Given the description of an element on the screen output the (x, y) to click on. 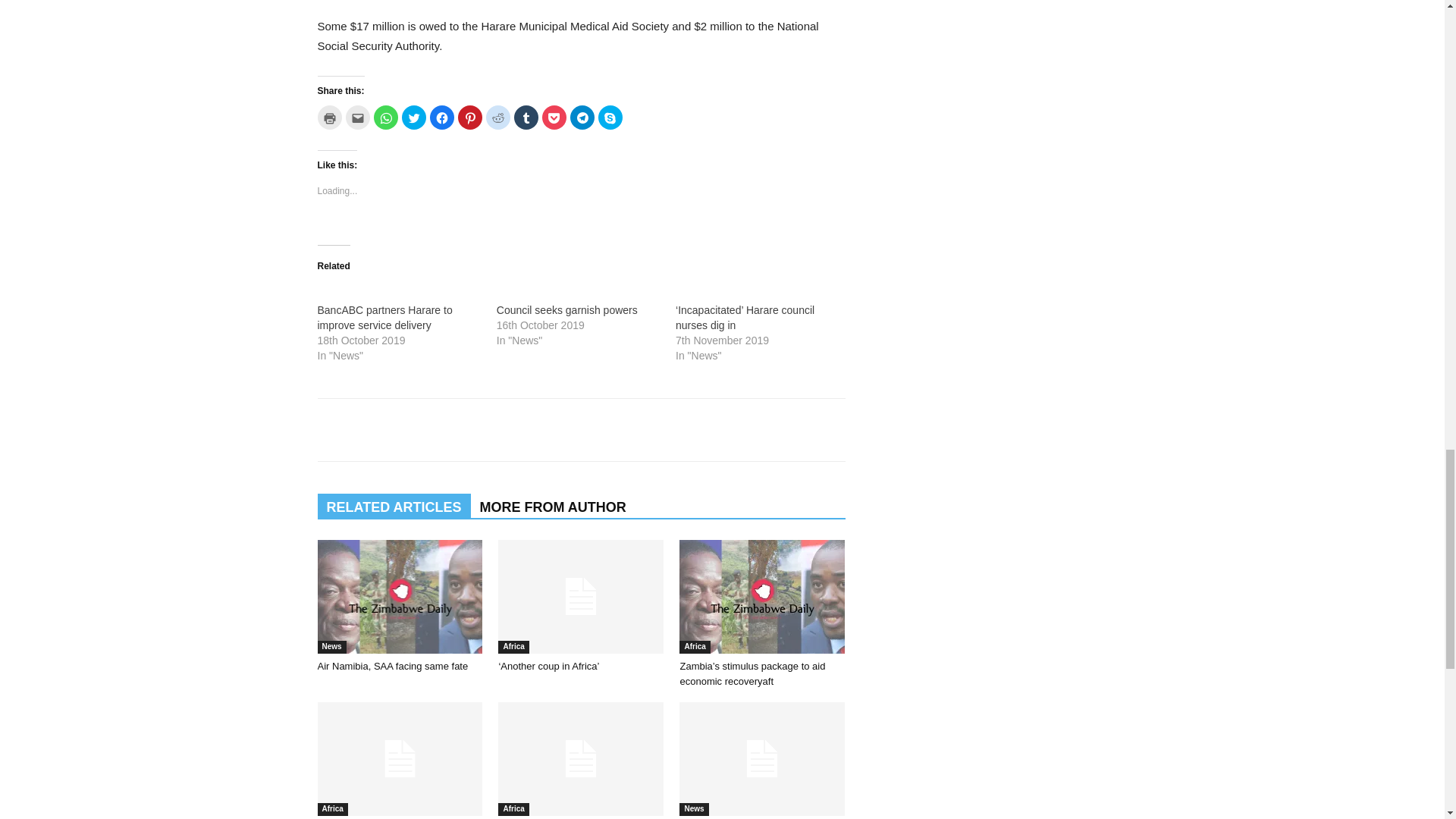
Click to email this to a friend (357, 117)
Click to share on Twitter (413, 117)
Click to share on Facebook (440, 117)
Click to share on Pinterest (469, 117)
Click to print (328, 117)
Click to share on WhatsApp (384, 117)
